Given the description of an element on the screen output the (x, y) to click on. 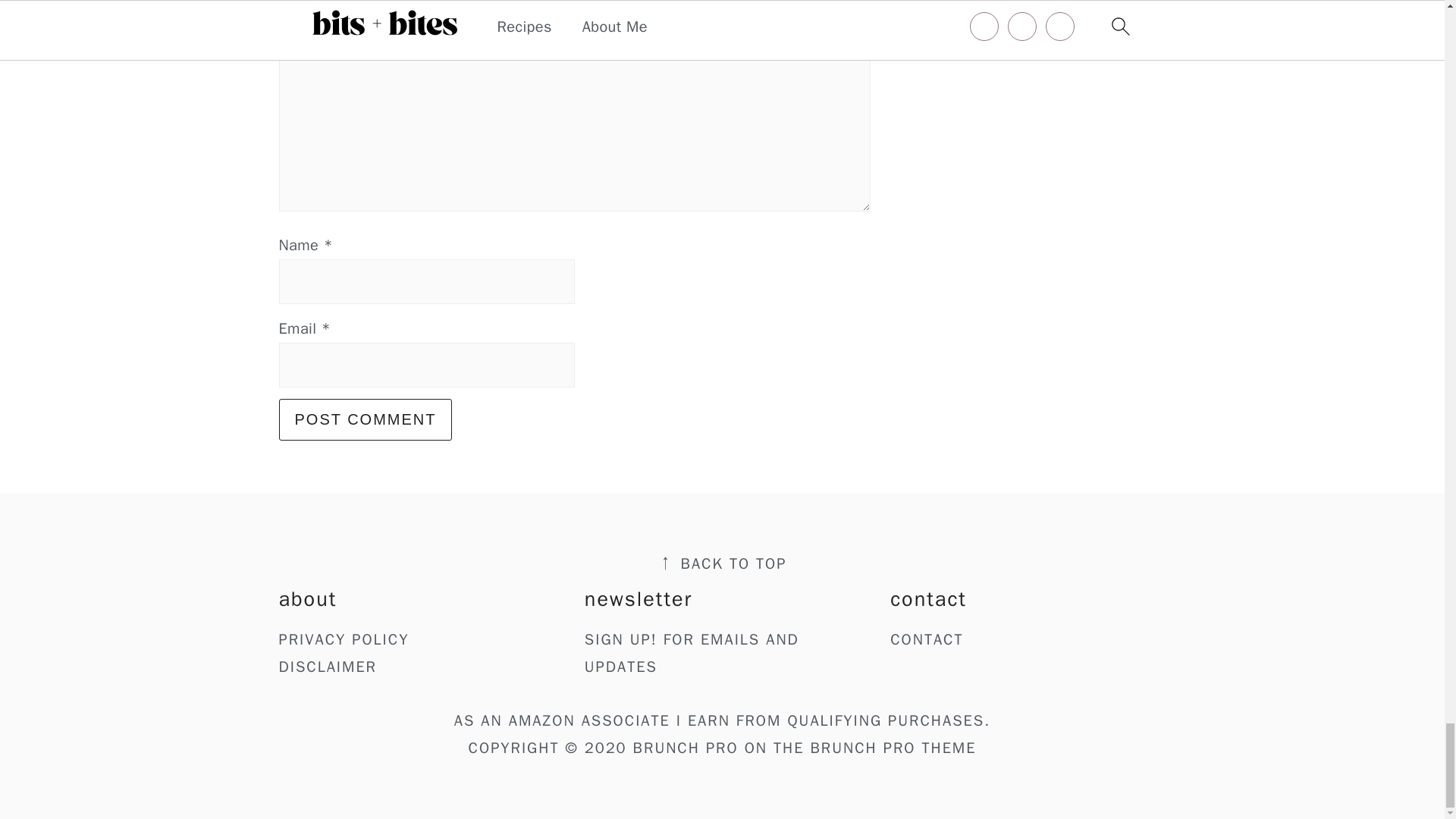
Post Comment (365, 419)
